Given the description of an element on the screen output the (x, y) to click on. 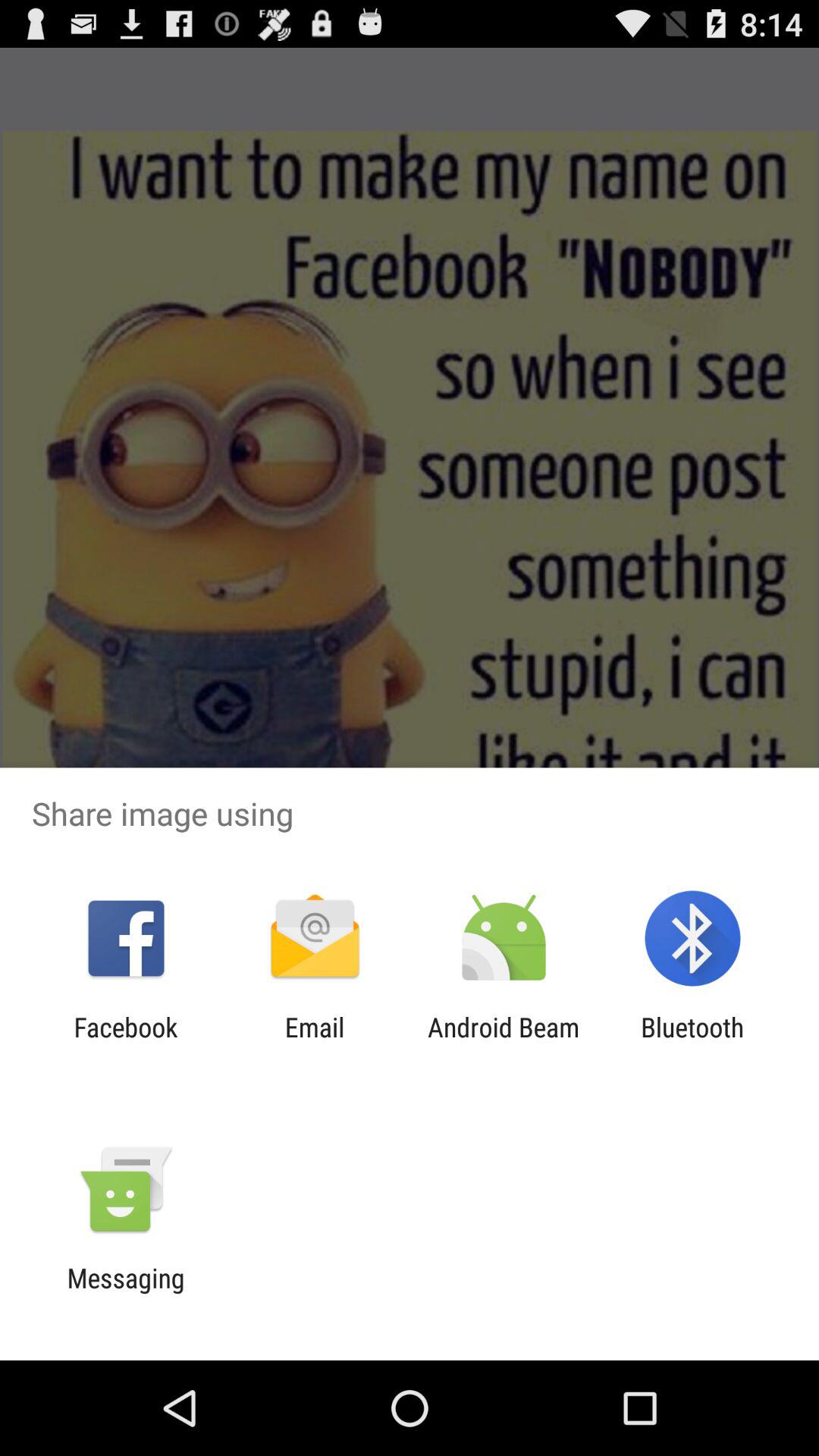
open item to the left of the bluetooth item (503, 1042)
